Given the description of an element on the screen output the (x, y) to click on. 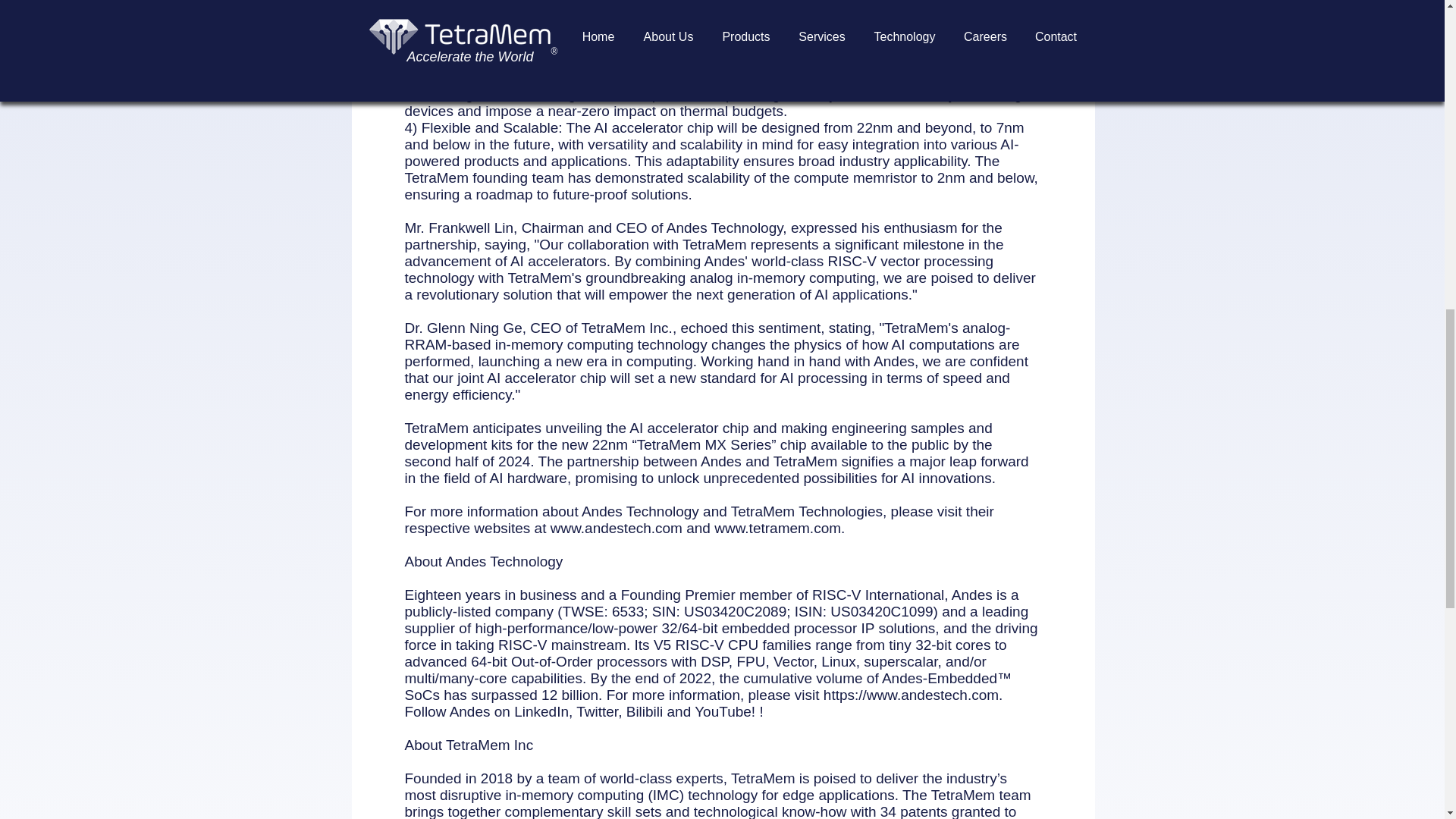
www.andestech.com (616, 528)
www.tetramem.com (777, 528)
